Given the description of an element on the screen output the (x, y) to click on. 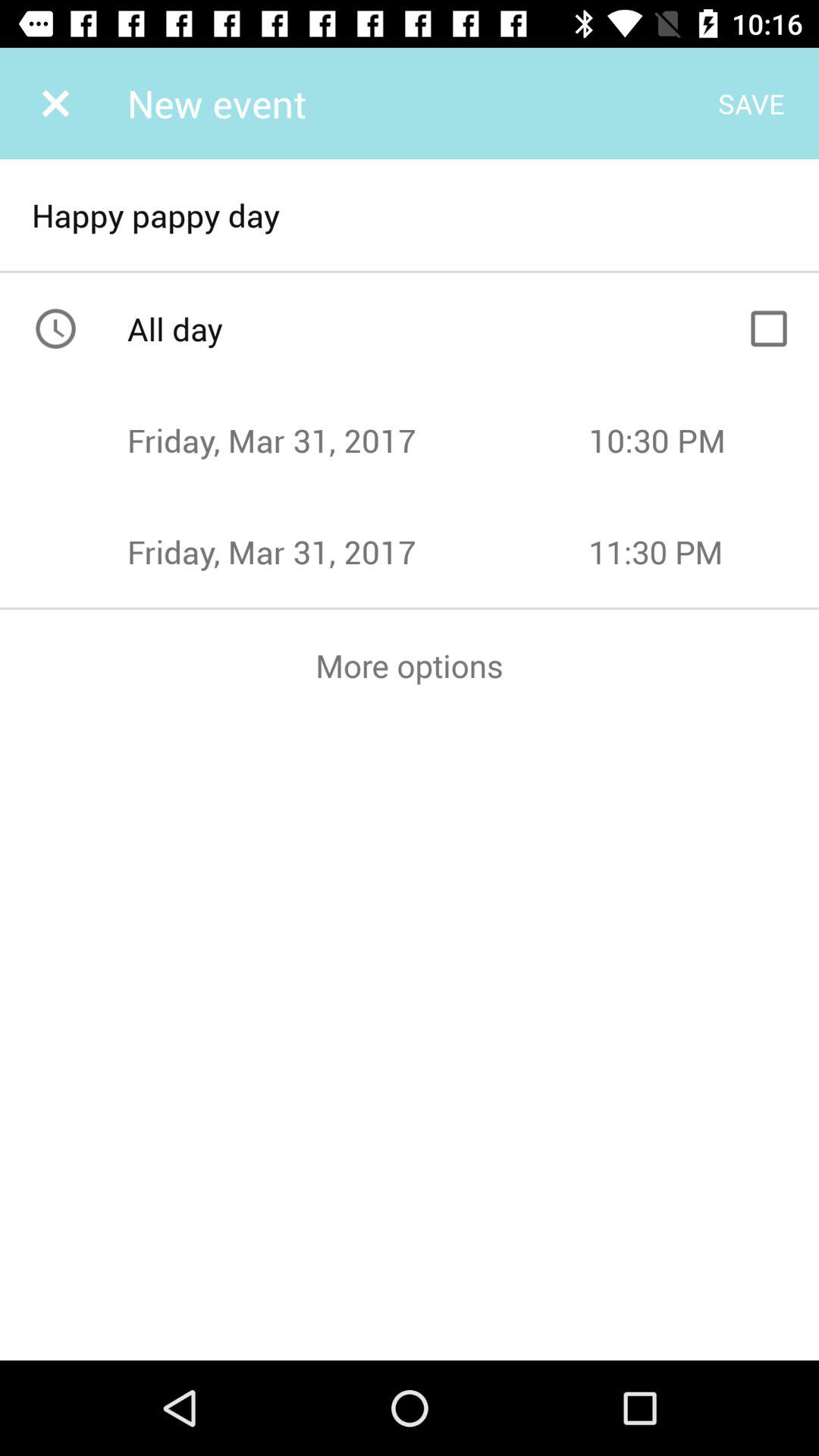
include event (768, 328)
